Given the description of an element on the screen output the (x, y) to click on. 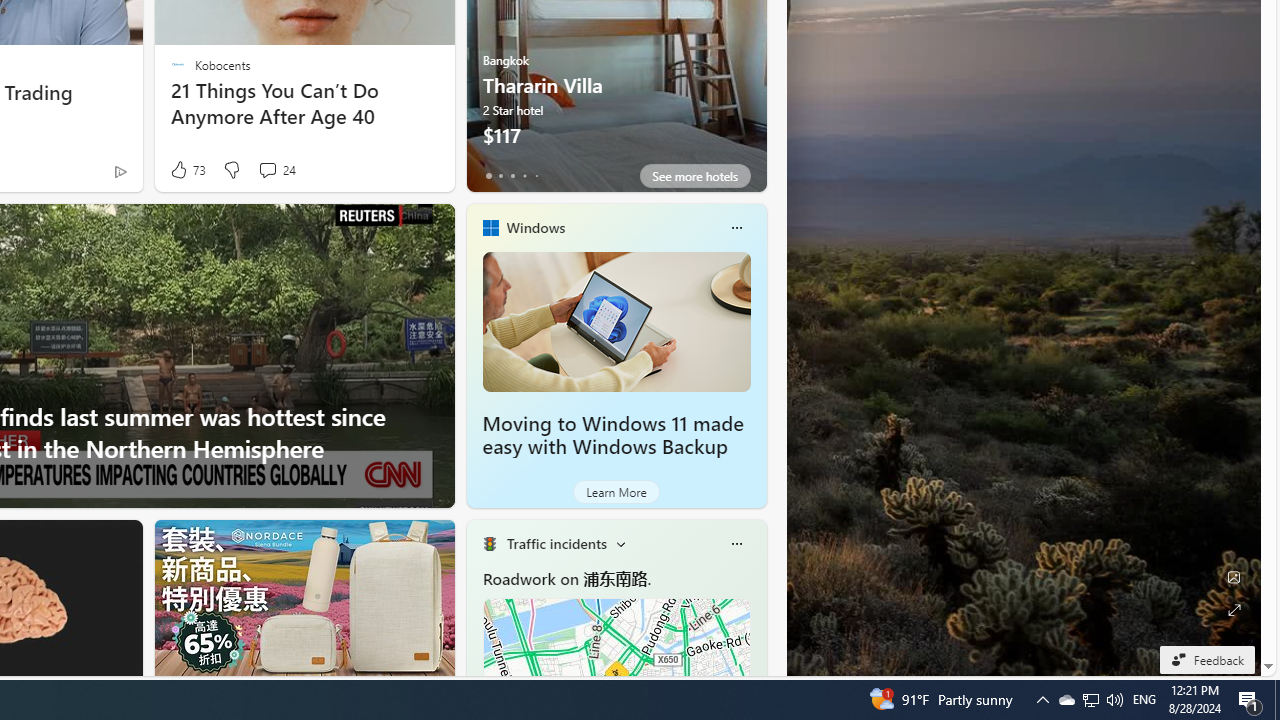
See more hotels (694, 175)
tab-3 (524, 175)
Windows (535, 227)
Expand background (1233, 610)
Learn More (616, 491)
View comments 24 Comment (267, 169)
73 Like (186, 170)
tab-1 (500, 175)
Traffic Title Traffic Light (489, 543)
Moving to Windows 11 made easy with Windows Backup (616, 321)
View comments 24 Comment (276, 170)
tab-2 (511, 175)
Change scenarios (620, 543)
